Given the description of an element on the screen output the (x, y) to click on. 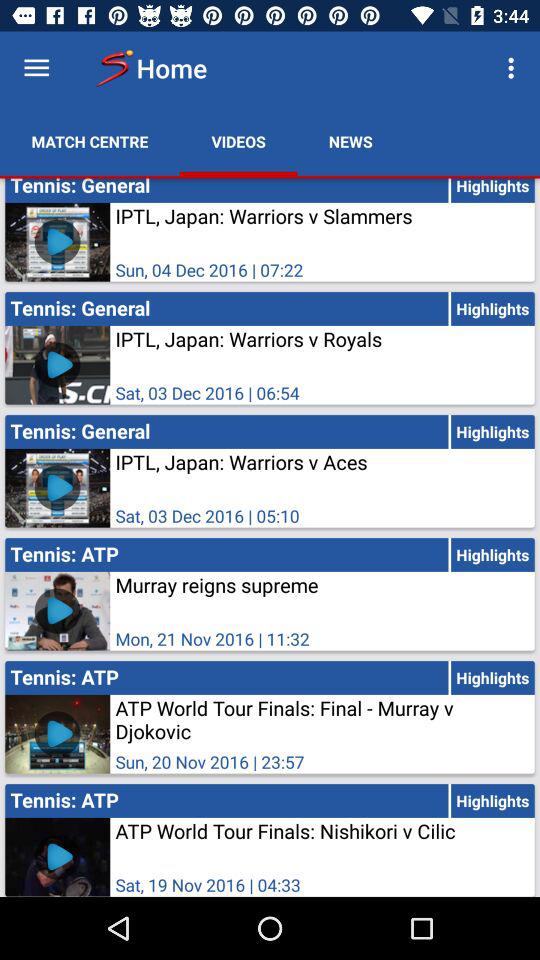
click news icon (350, 141)
